Given the description of an element on the screen output the (x, y) to click on. 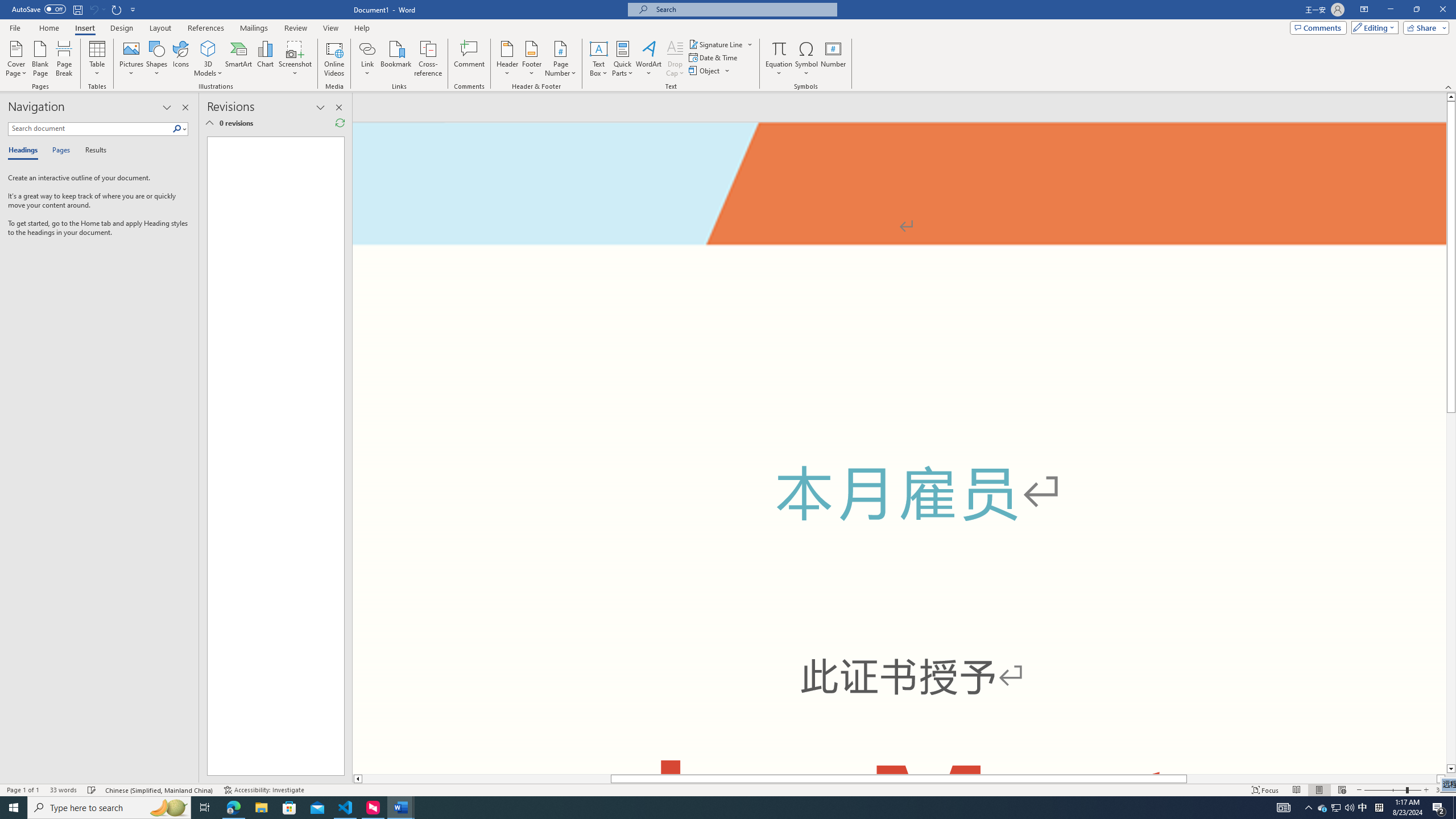
Page down (1450, 588)
Microsoft search (742, 9)
Page 1 content (898, 489)
Drop Cap (674, 58)
Line up (1450, 96)
Comment (469, 58)
Symbol (806, 58)
Online Videos... (333, 58)
Link (367, 58)
Object... (705, 69)
Cover Page (16, 58)
